Given the description of an element on the screen output the (x, y) to click on. 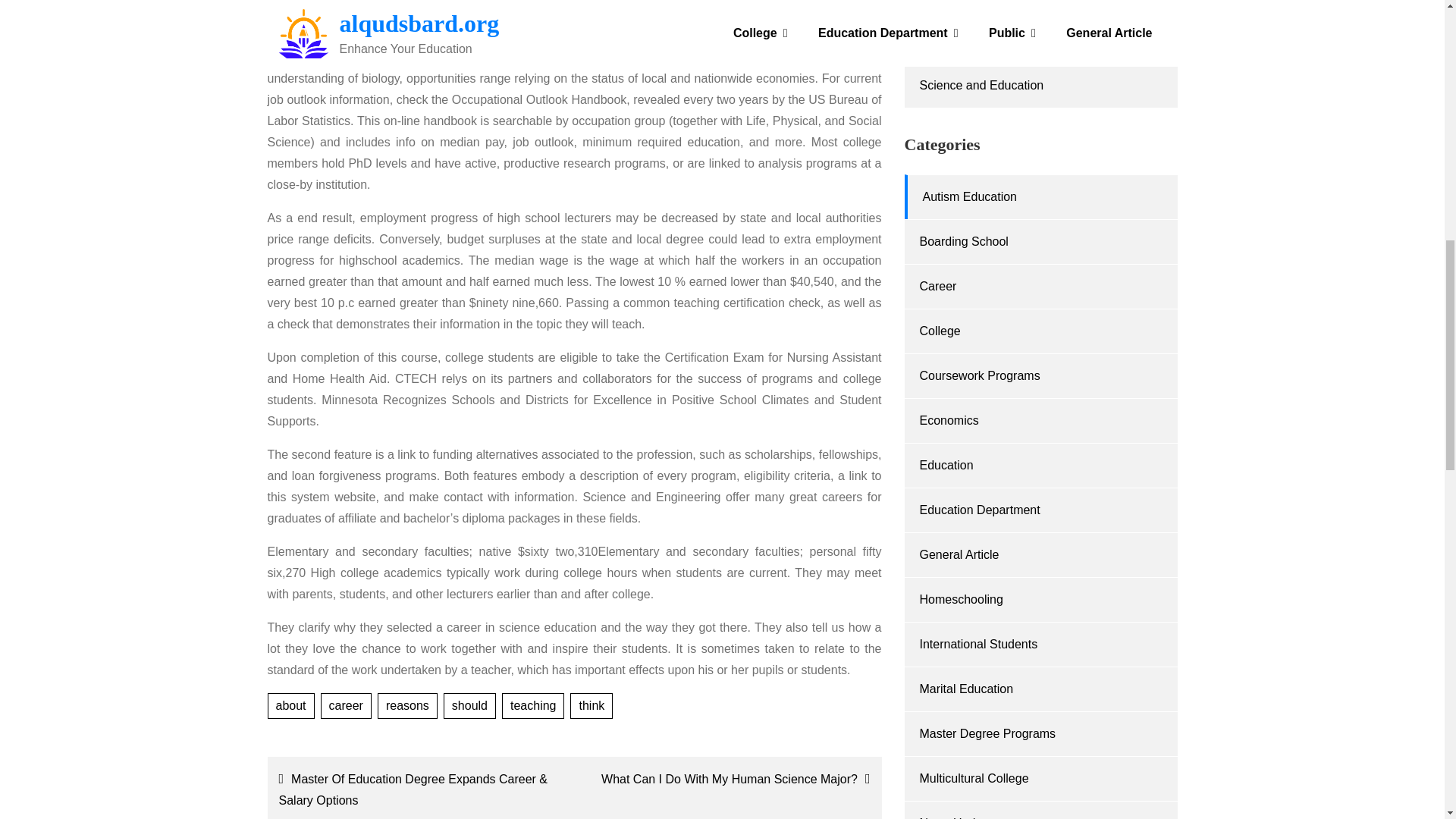
reasons (407, 705)
should (470, 705)
teaching (533, 705)
career (345, 705)
think (591, 705)
about (290, 705)
What Can I Do With My Human Science Major? (730, 779)
